Given the description of an element on the screen output the (x, y) to click on. 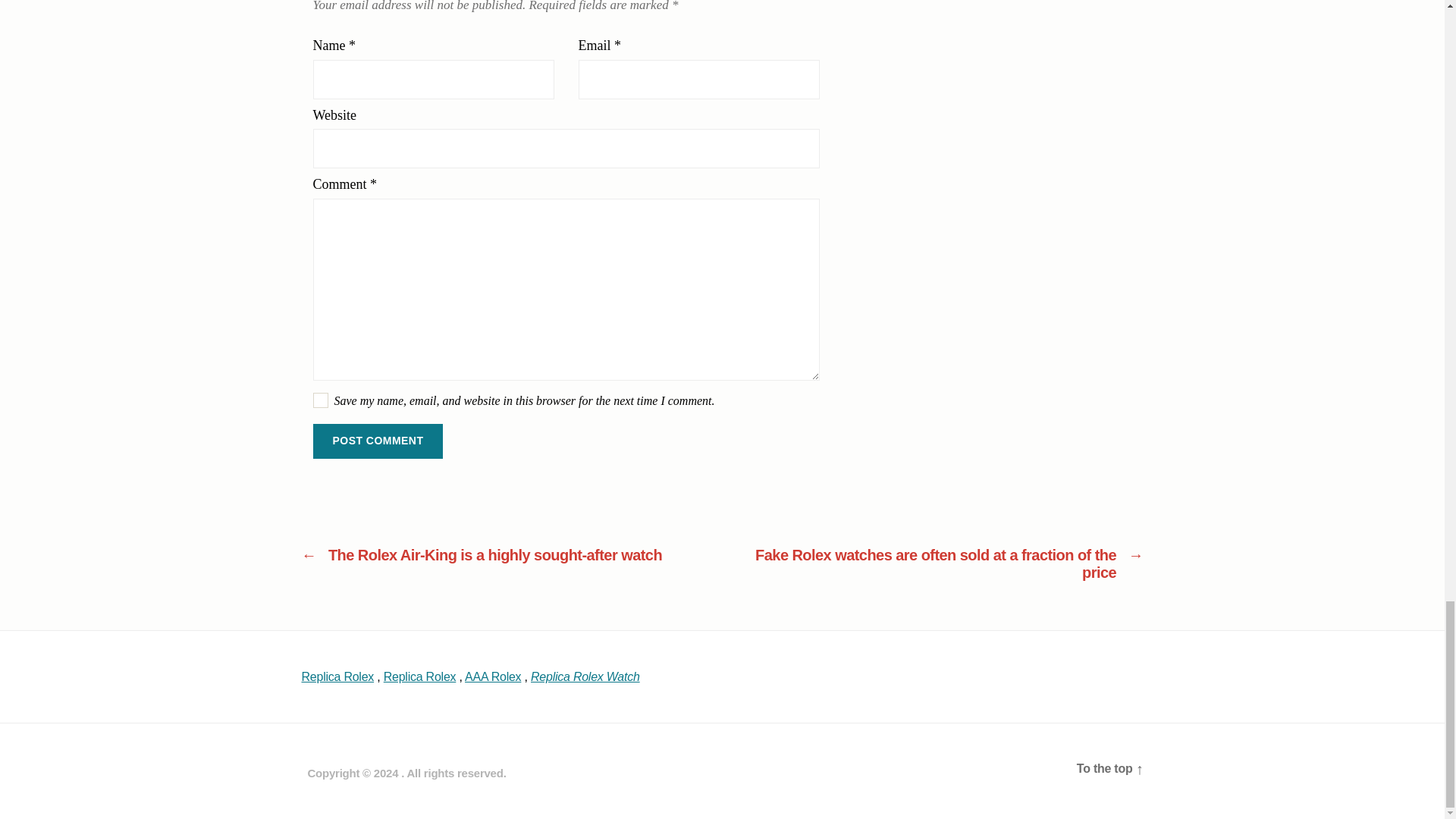
yes (320, 400)
Post Comment (377, 441)
Post Comment (377, 441)
